Given the description of an element on the screen output the (x, y) to click on. 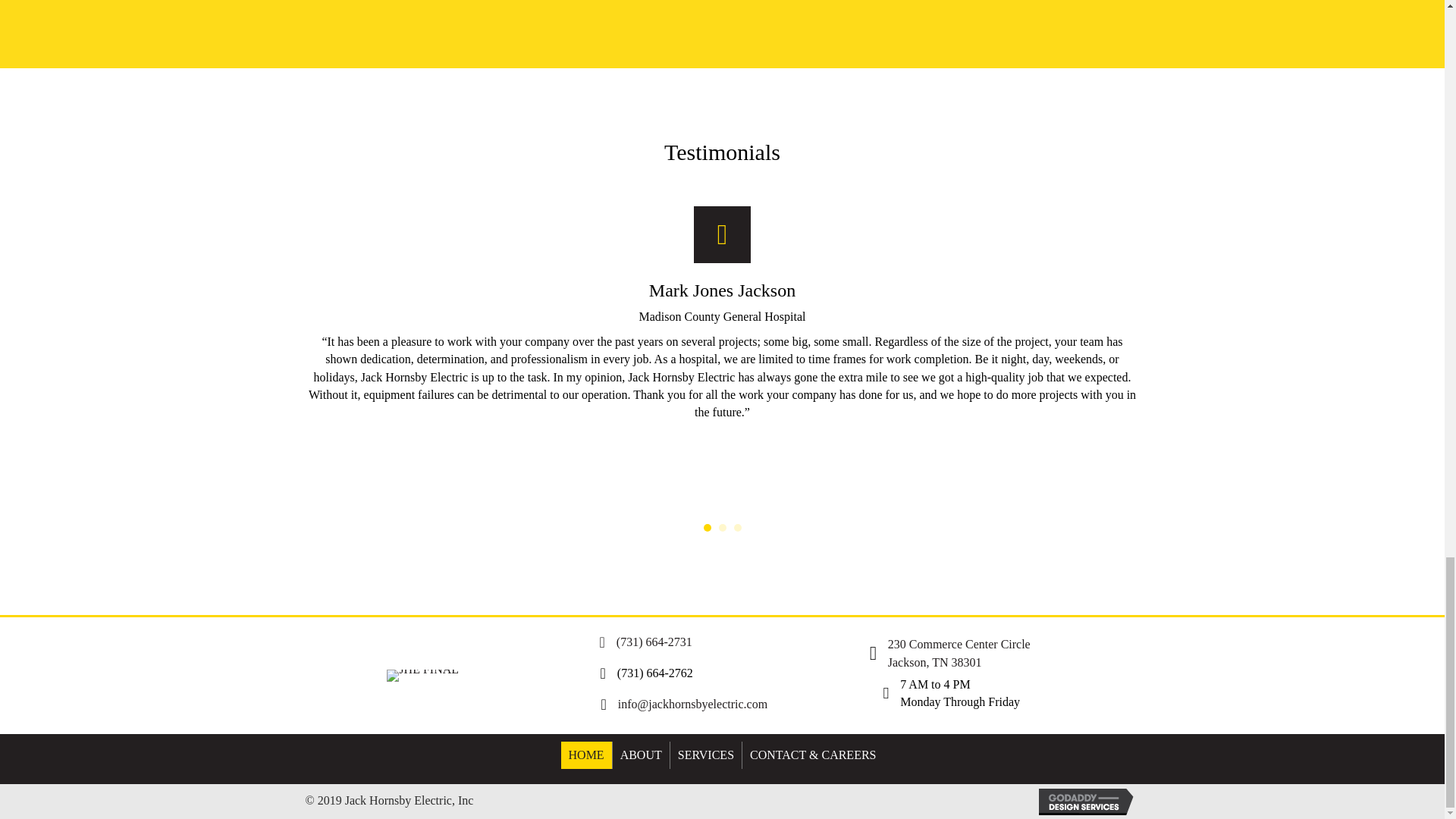
ABOUT (640, 755)
JHE FINAL (422, 675)
2 (722, 527)
HOME (585, 755)
3 (737, 527)
SERVICES (705, 755)
1 (707, 527)
